Given the description of an element on the screen output the (x, y) to click on. 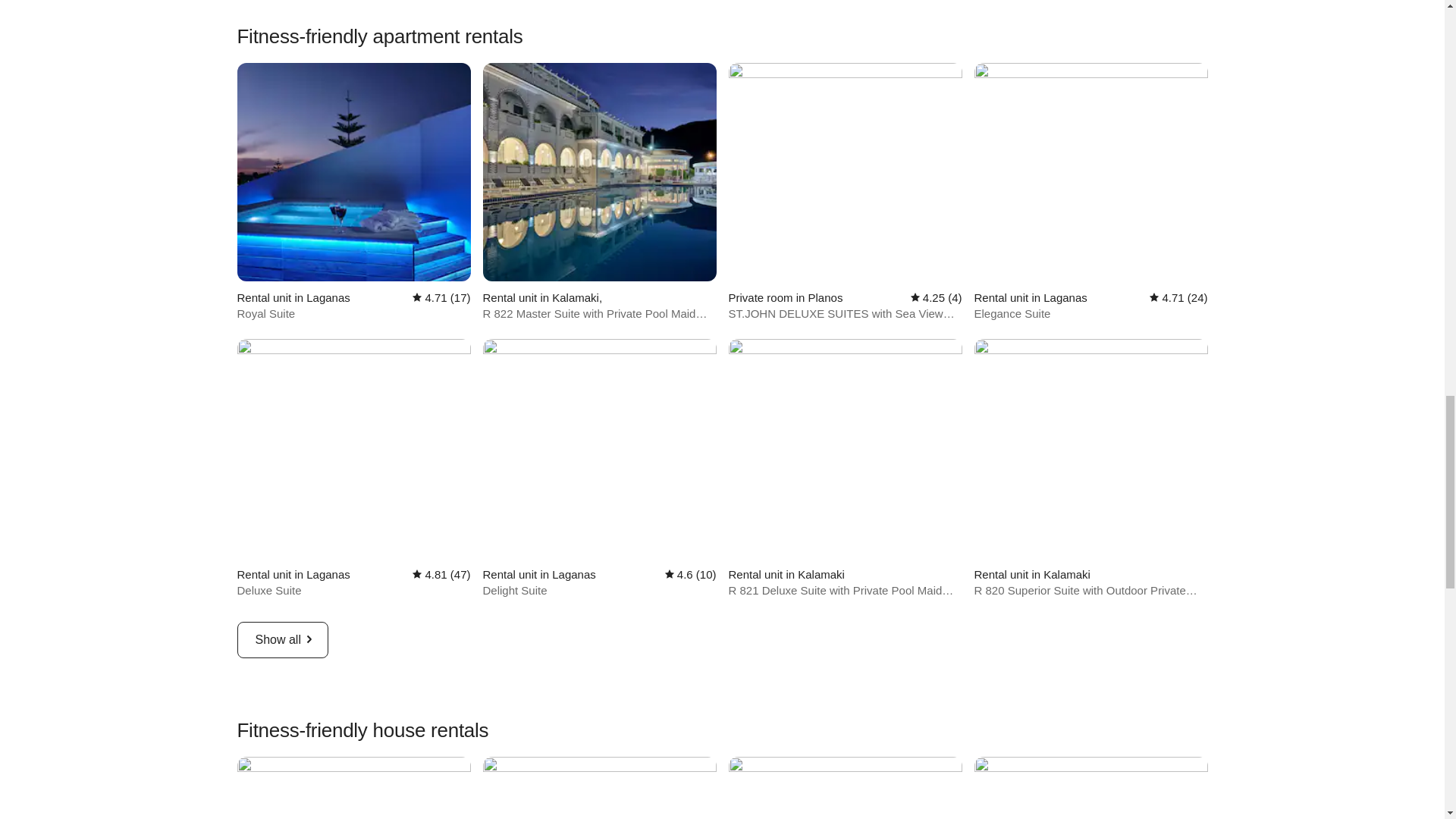
Show all (281, 639)
